Given the description of an element on the screen output the (x, y) to click on. 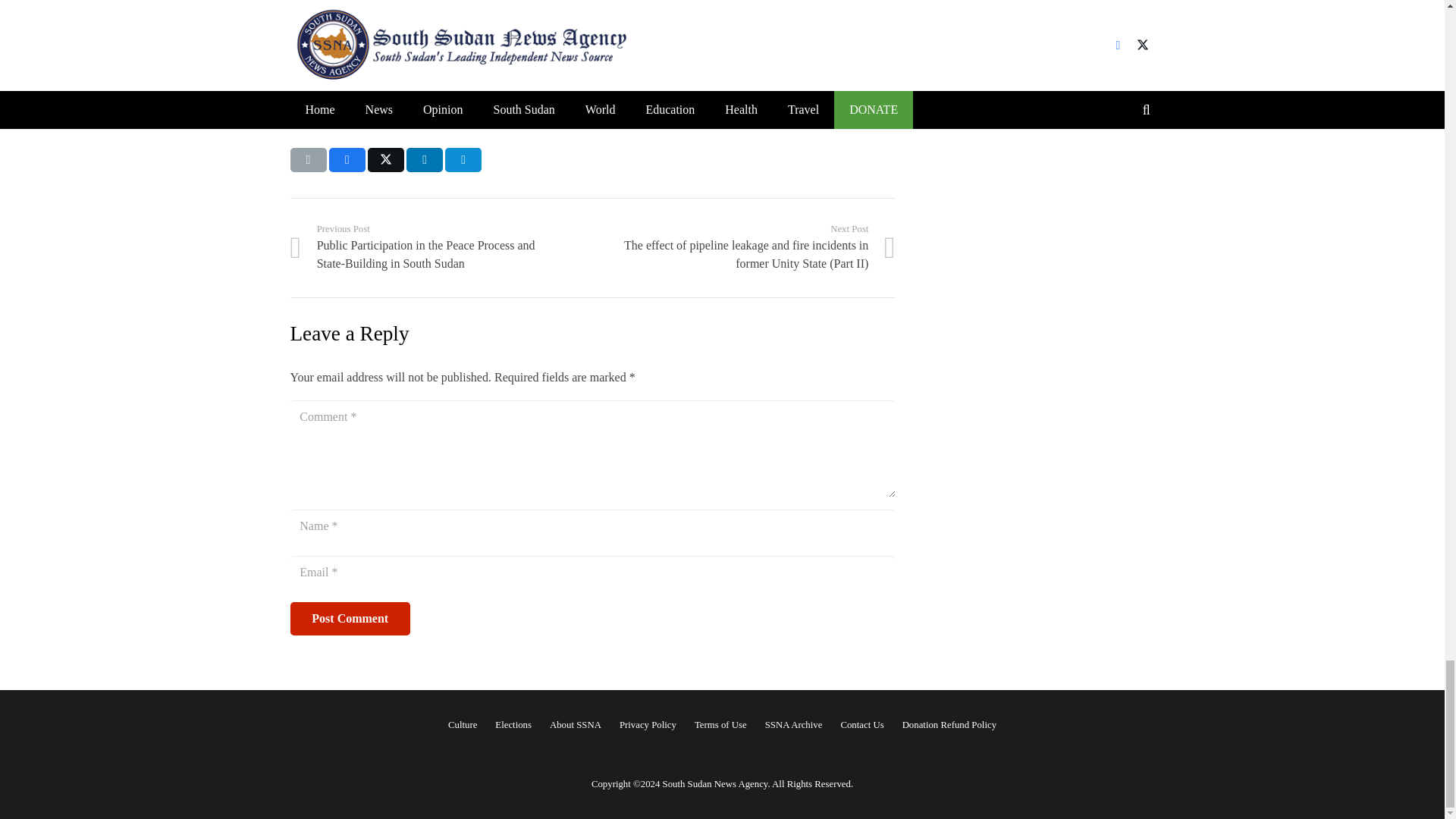
Post Comment (349, 618)
Elections (513, 724)
Culture (462, 724)
Share this (424, 159)
Tweet this (386, 159)
Share this (463, 159)
Email this (307, 159)
Share this (347, 159)
